Given the description of an element on the screen output the (x, y) to click on. 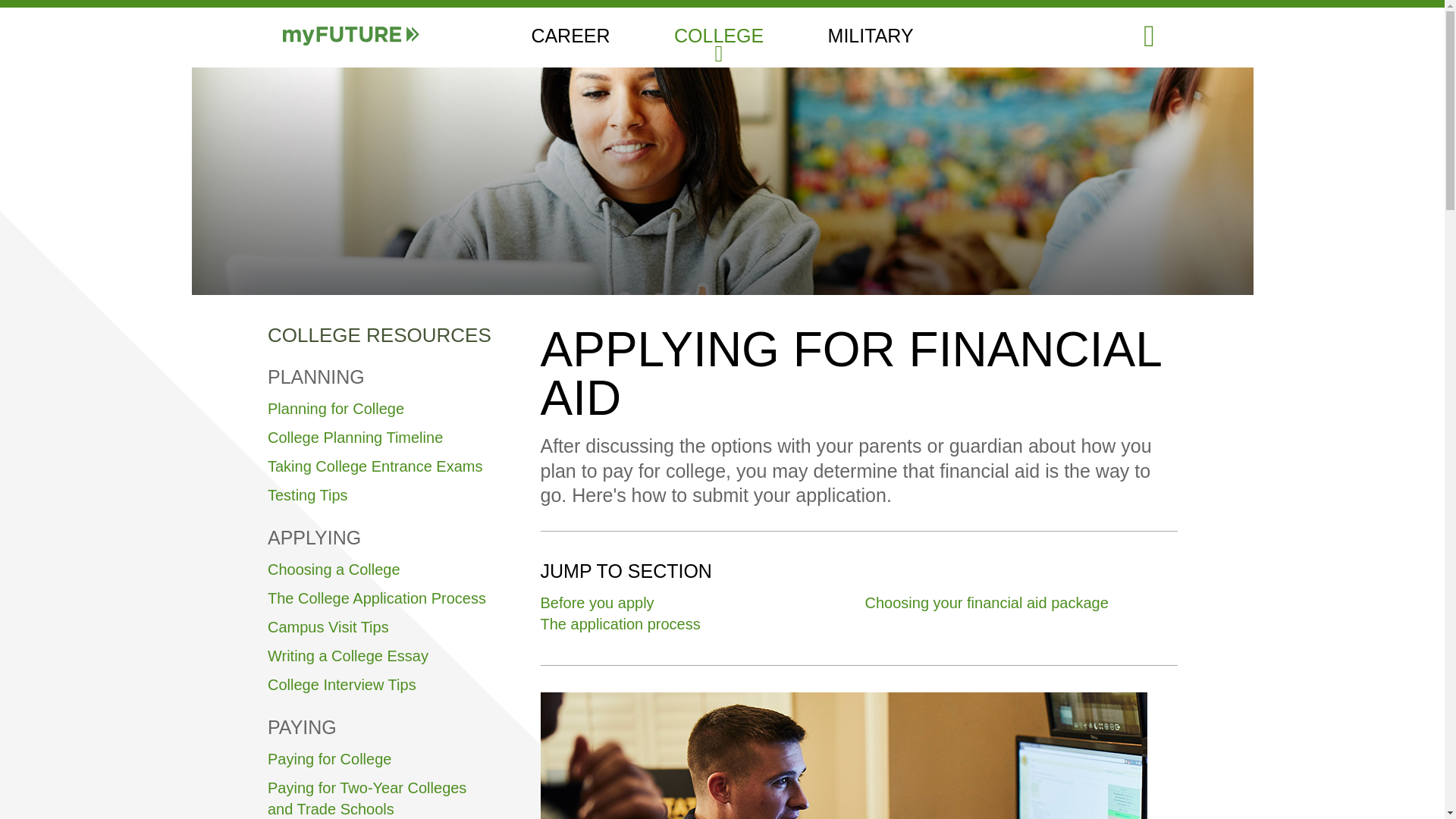
MILITARY (871, 37)
CAREER (570, 37)
COLLEGE (718, 37)
